Given the description of an element on the screen output the (x, y) to click on. 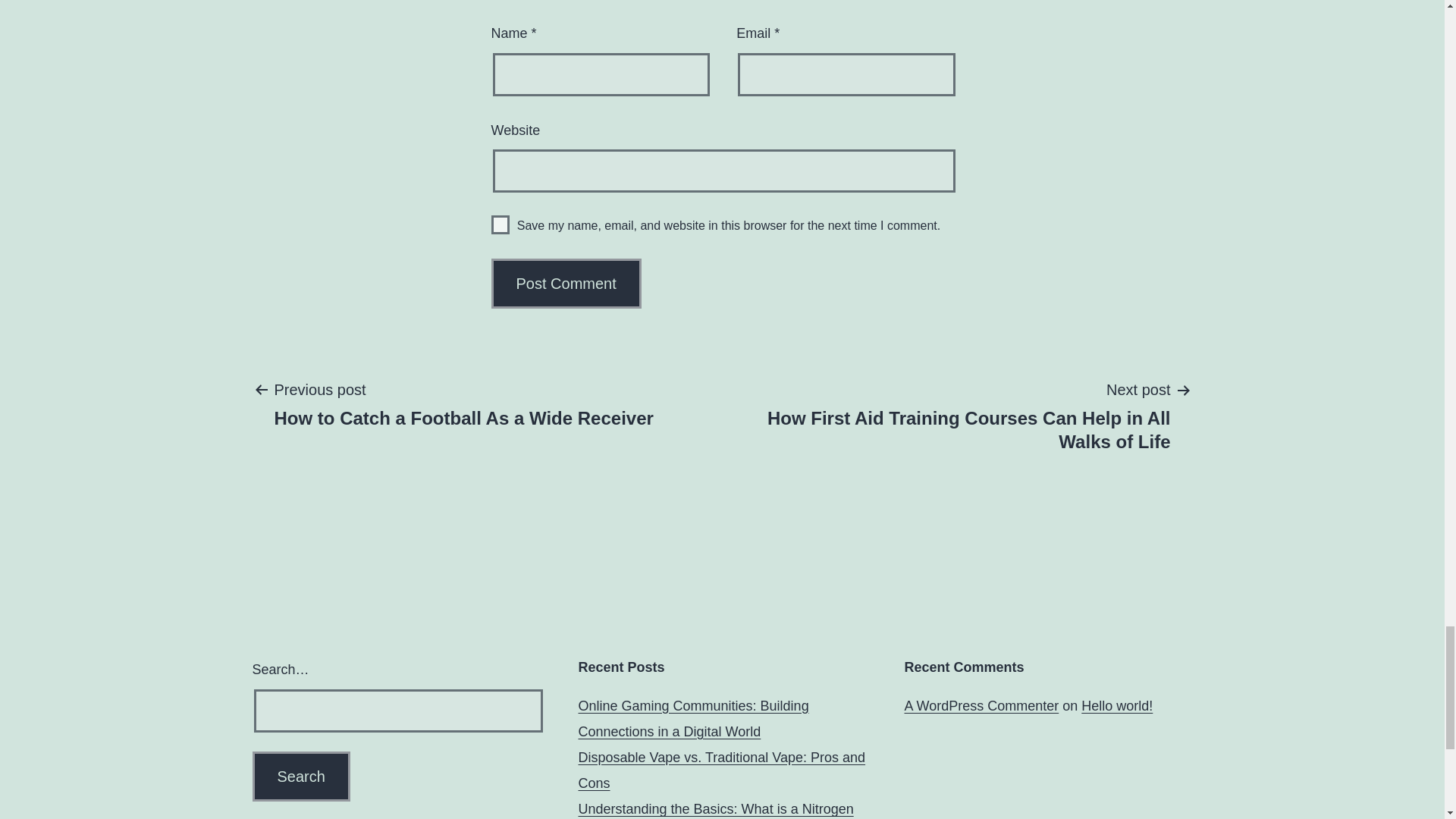
Understanding the Basics: What is a Nitrogen Generator? (715, 810)
Search (463, 402)
A WordPress Commenter (300, 776)
Search (981, 705)
yes (300, 776)
Search (500, 224)
Hello world! (300, 776)
Disposable Vape vs. Traditional Vape: Pros and Cons (1117, 705)
